Given the description of an element on the screen output the (x, y) to click on. 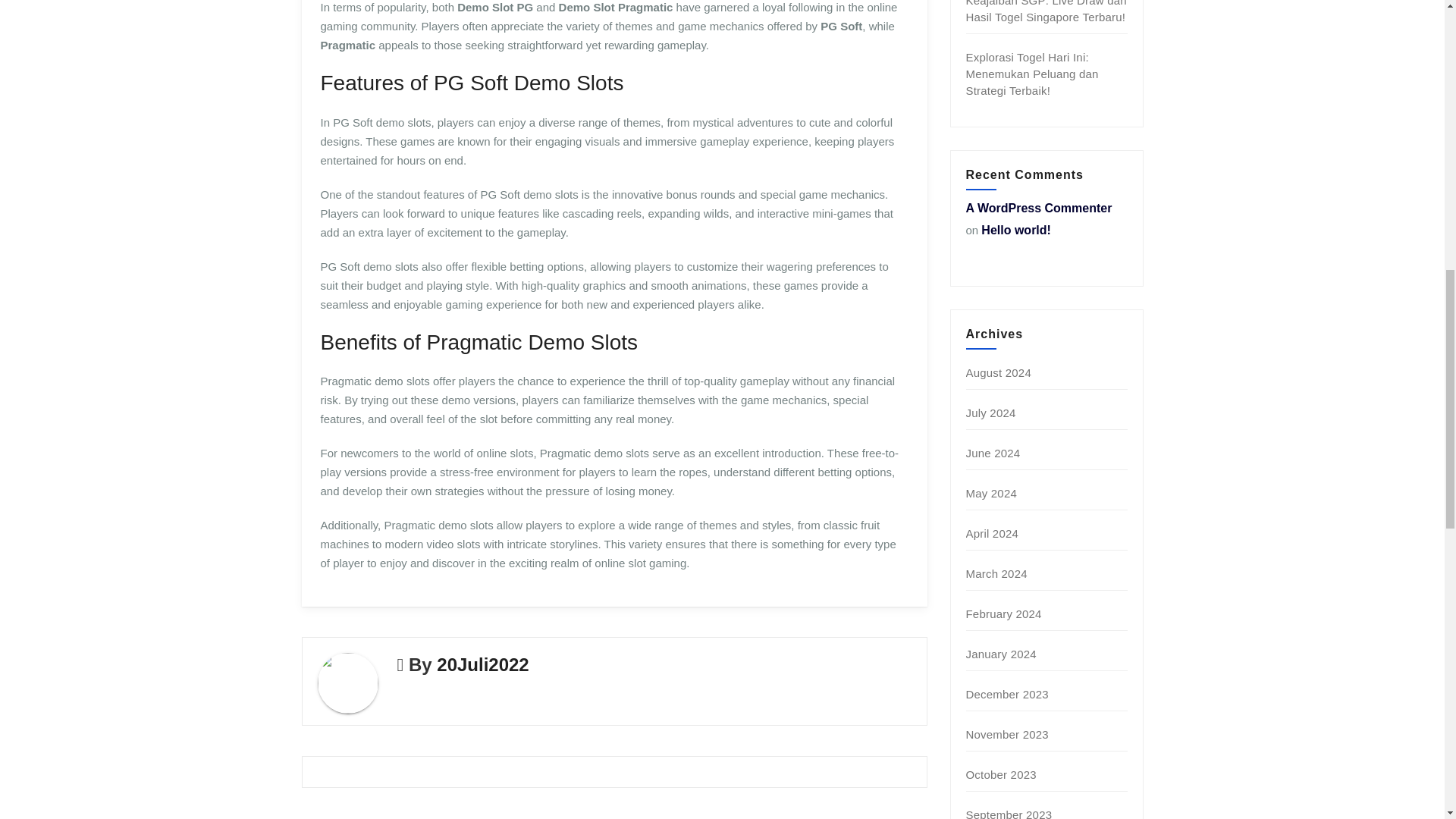
Hello world! (1016, 229)
July 2024 (991, 412)
April 2024 (992, 533)
Keajaiban SGP: Live Draw dan Hasil Togel Singapore Terbaru! (1046, 11)
October 2023 (1001, 774)
A WordPress Commenter (1039, 207)
20Juli2022 (482, 664)
June 2024 (993, 452)
January 2024 (1001, 653)
